Given the description of an element on the screen output the (x, y) to click on. 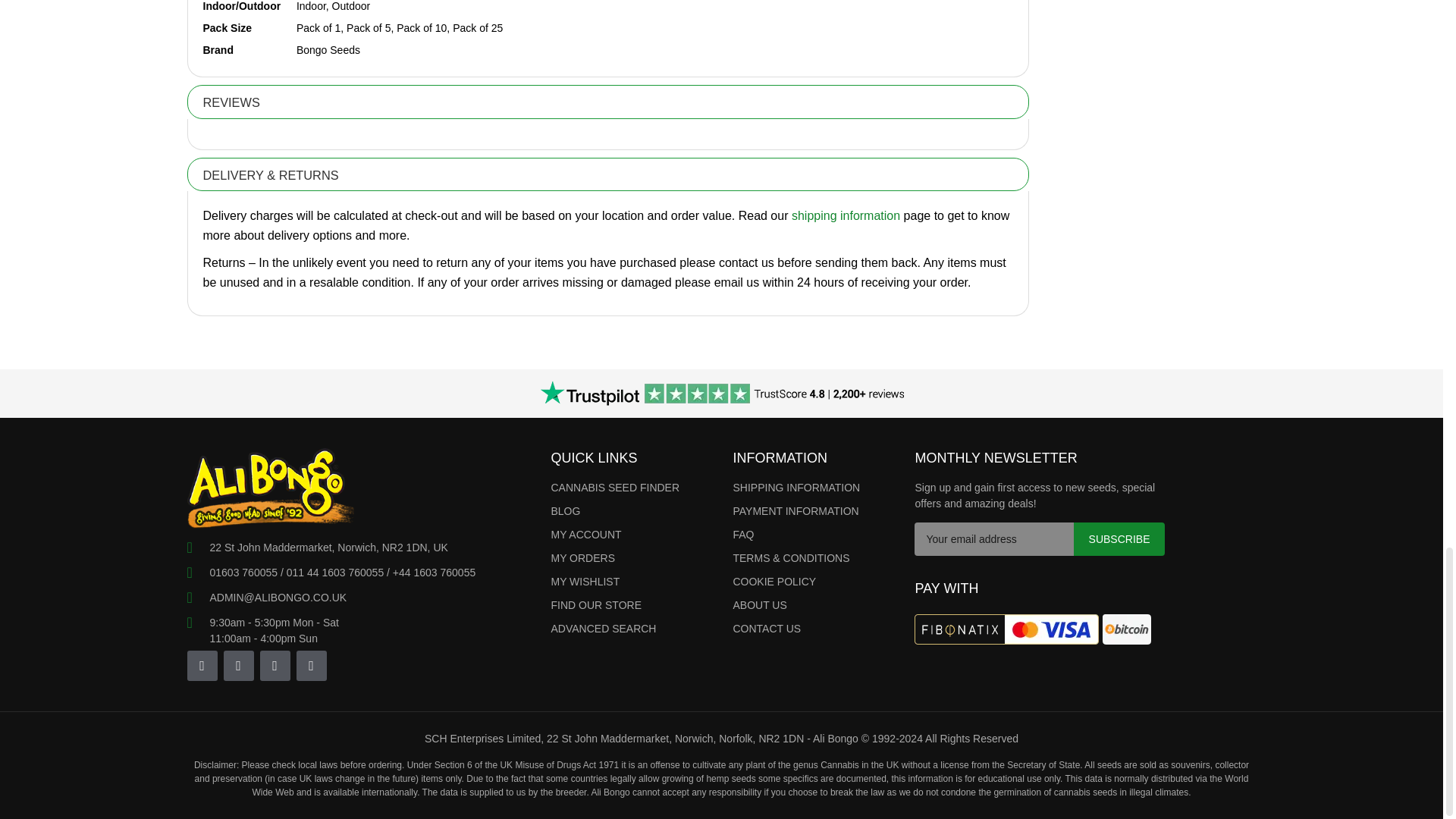
Ali Bongo Shipping Information (845, 215)
Your email address (993, 539)
Instagram (201, 665)
